Given the description of an element on the screen output the (x, y) to click on. 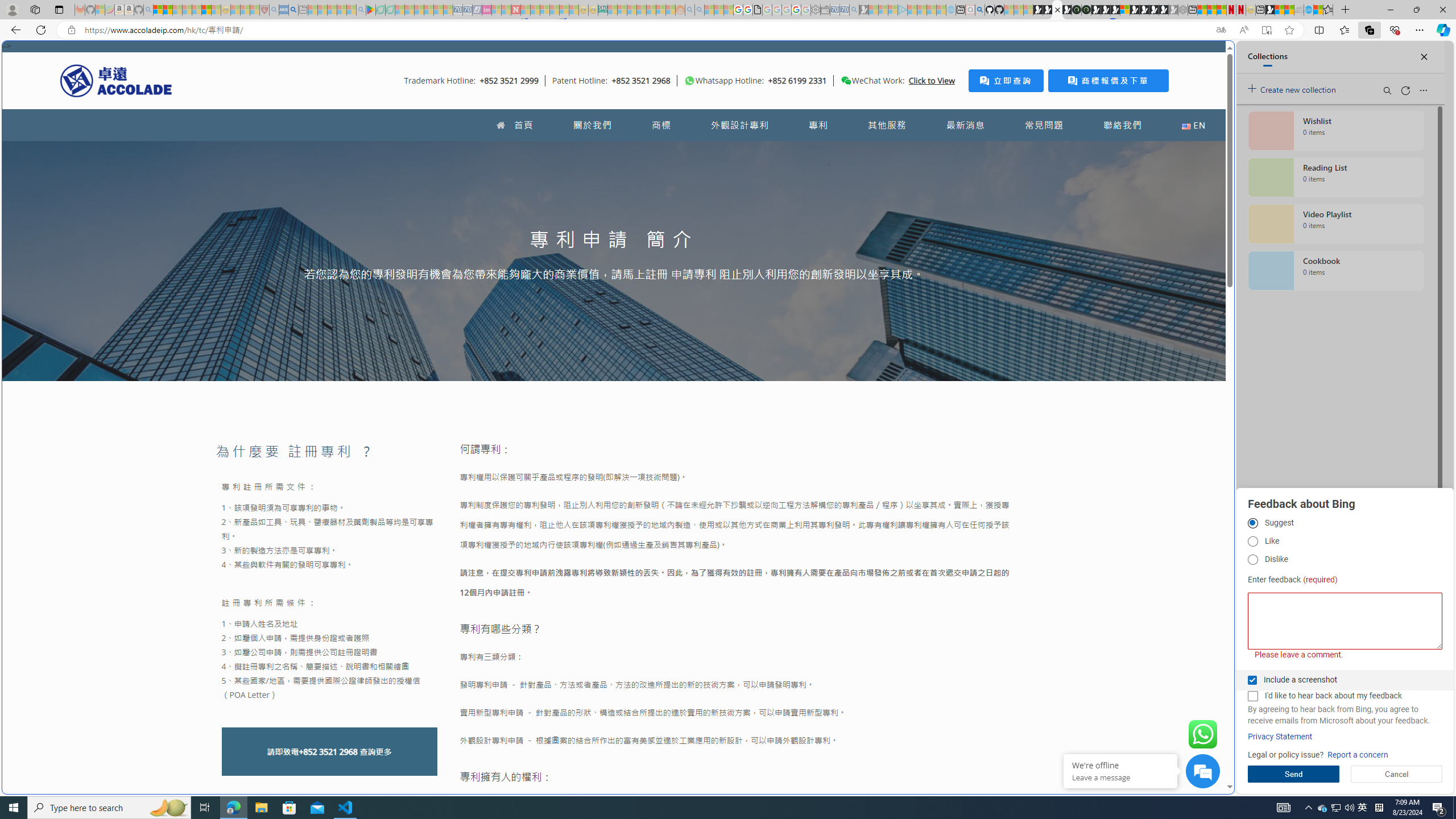
Frequently visited (965, 151)
Settings - Sleeping (815, 9)
